Given the description of an element on the screen output the (x, y) to click on. 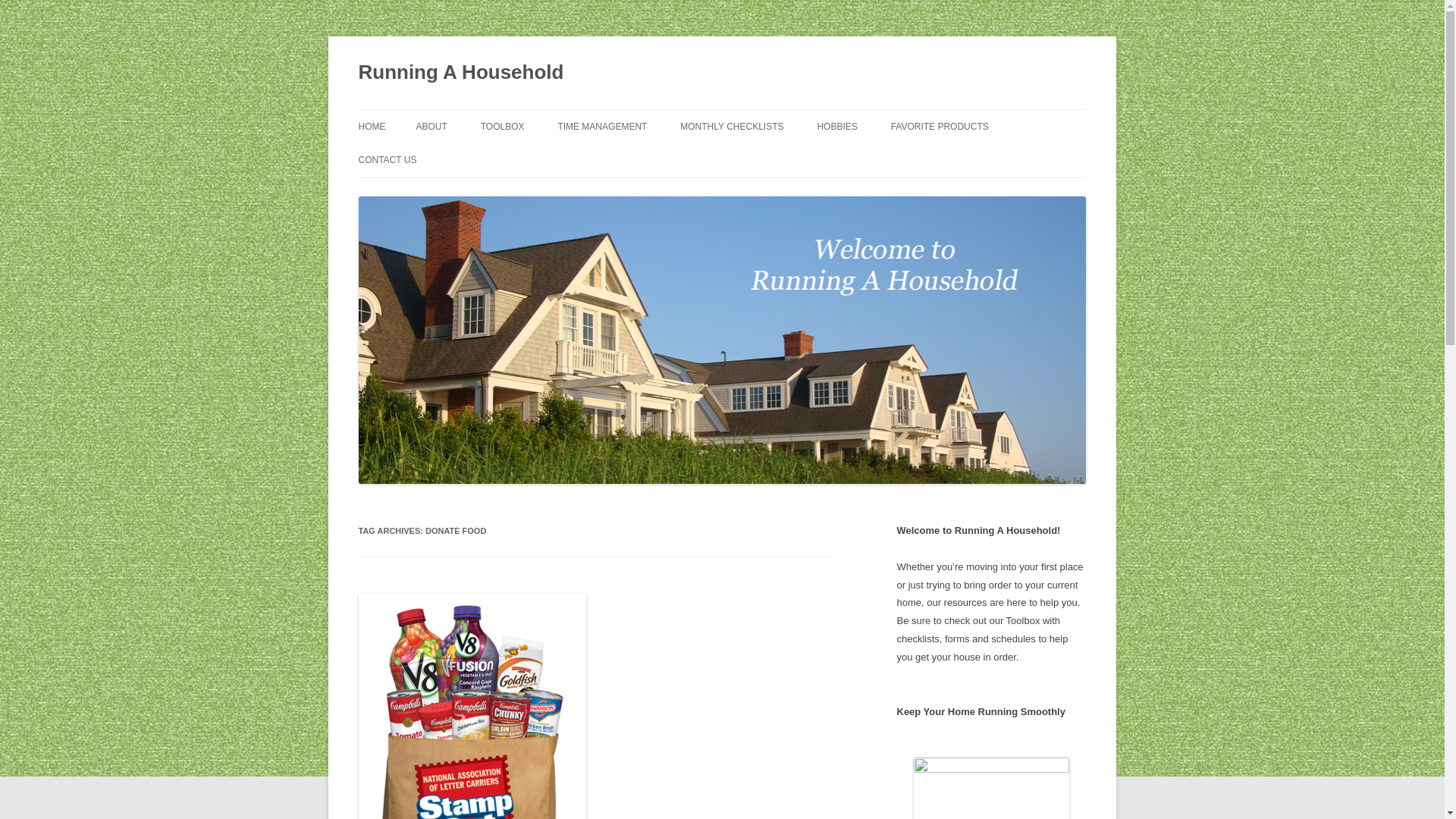
Running A Household (460, 72)
CONTACT US (387, 159)
FAVORITE PRODUCTS (939, 126)
TIME MANAGEMENT (601, 126)
GARDENING (892, 158)
TOOLBOX (502, 126)
ABOUT (430, 126)
MONTHLY CHECKLISTS (731, 126)
ORGANIZATION (555, 158)
